Given the description of an element on the screen output the (x, y) to click on. 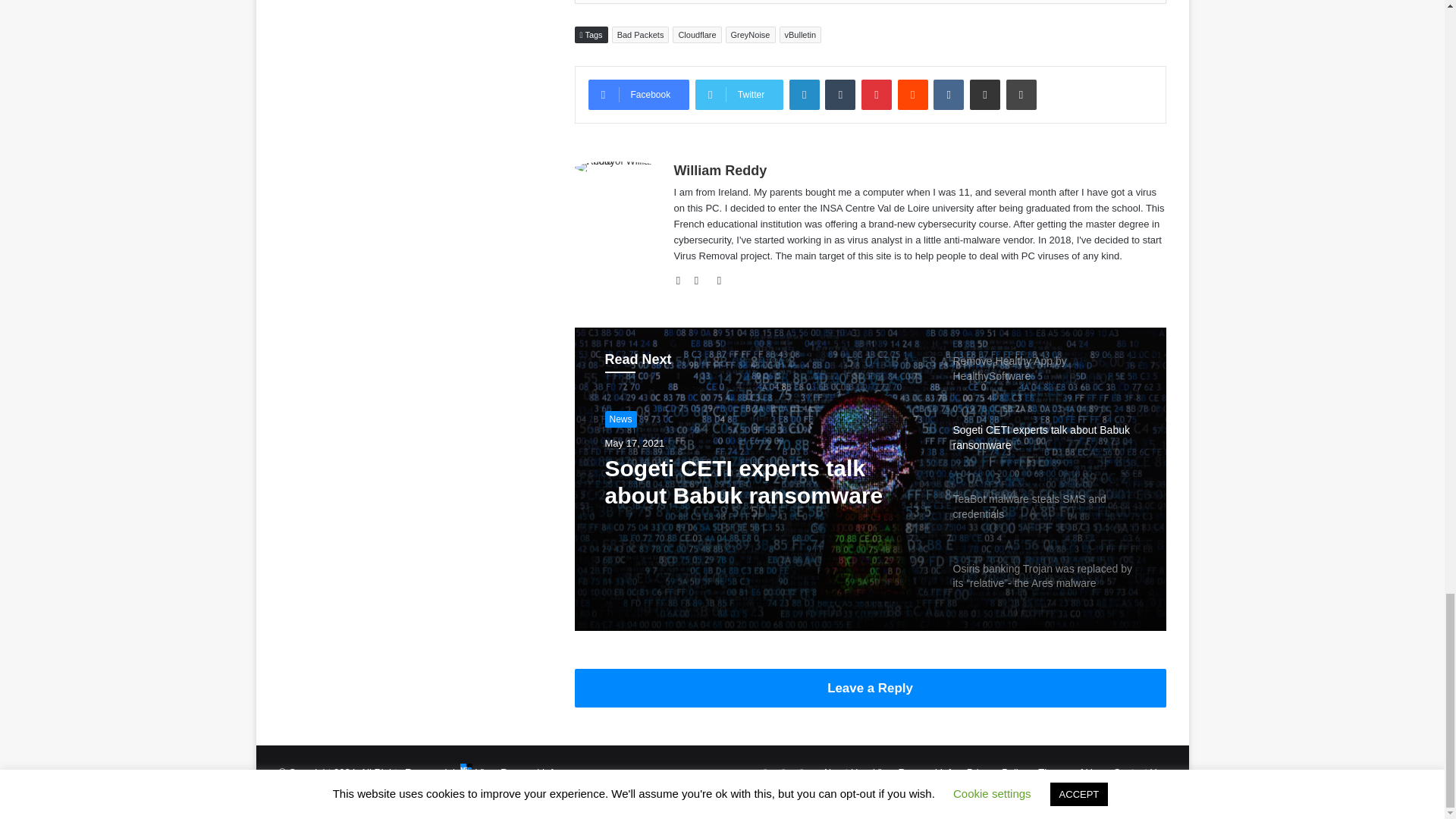
Share via Email (984, 94)
vBulletin (800, 34)
Reddit (913, 94)
Facebook (639, 94)
Facebook (639, 94)
VKontakte (948, 94)
Tumblr (840, 94)
LinkedIn (804, 94)
Pinterest (876, 94)
Bad Packets (640, 34)
GreyNoise (750, 34)
Twitter (739, 94)
Print (1021, 94)
Cloudflare (696, 34)
